Given the description of an element on the screen output the (x, y) to click on. 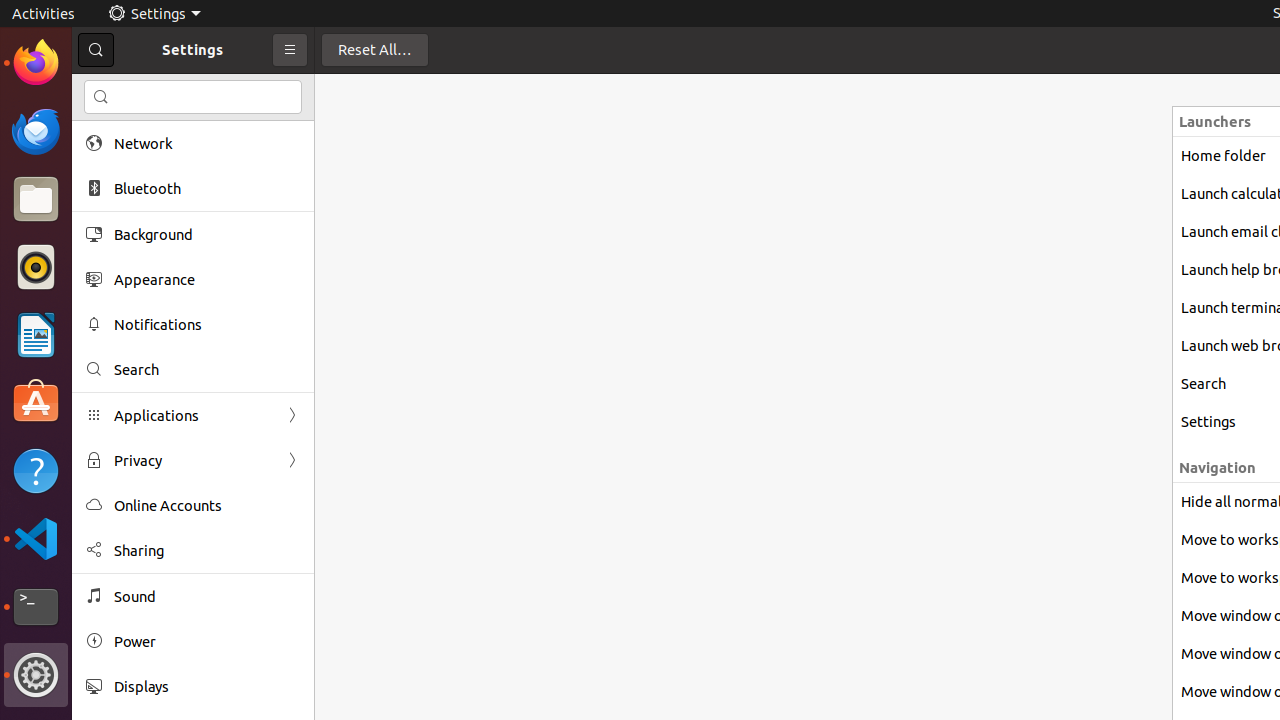
Bluetooth Element type: label (207, 188)
